Given the description of an element on the screen output the (x, y) to click on. 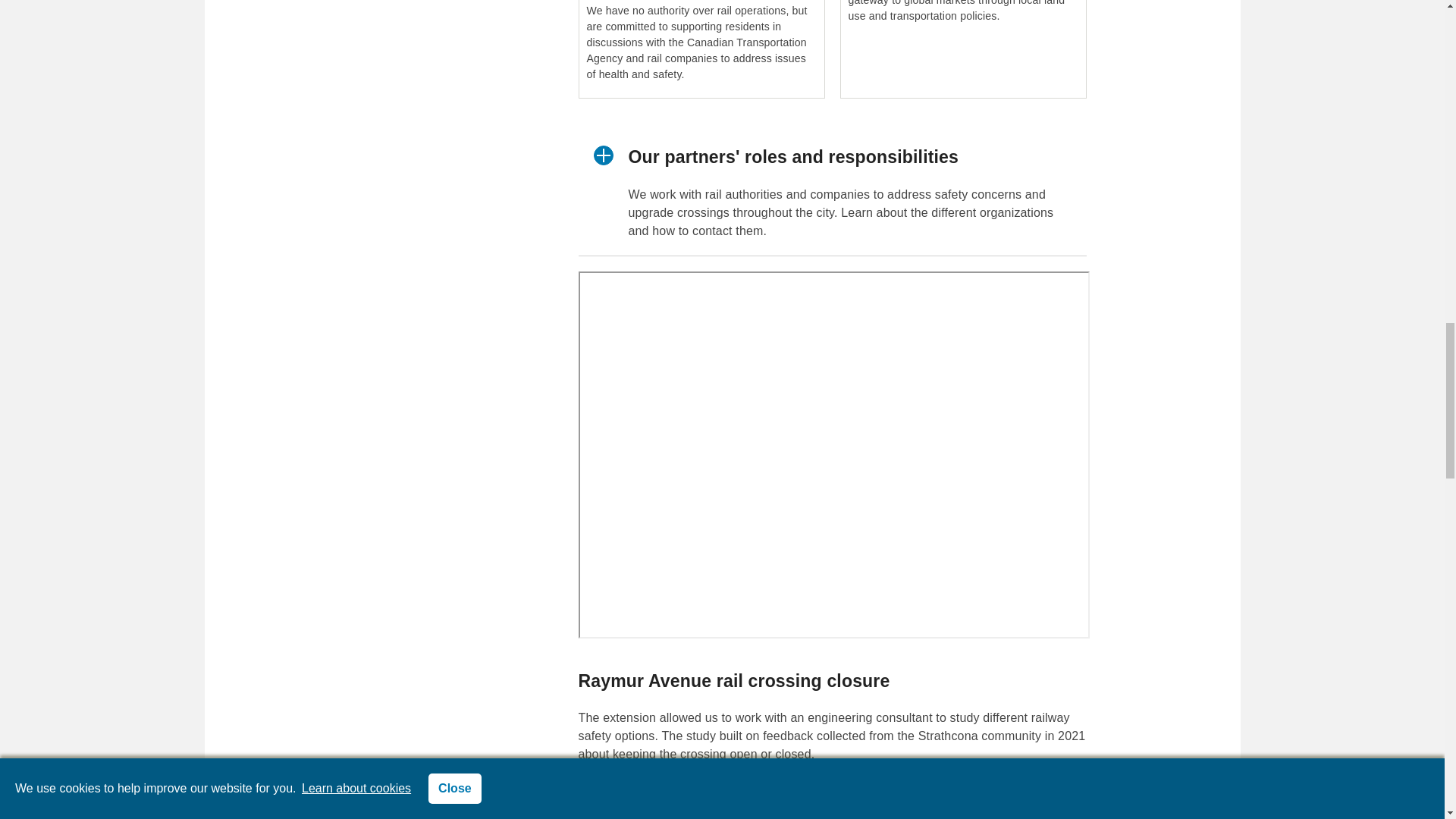
Show all (632, 798)
Hide all (750, 798)
